Given the description of an element on the screen output the (x, y) to click on. 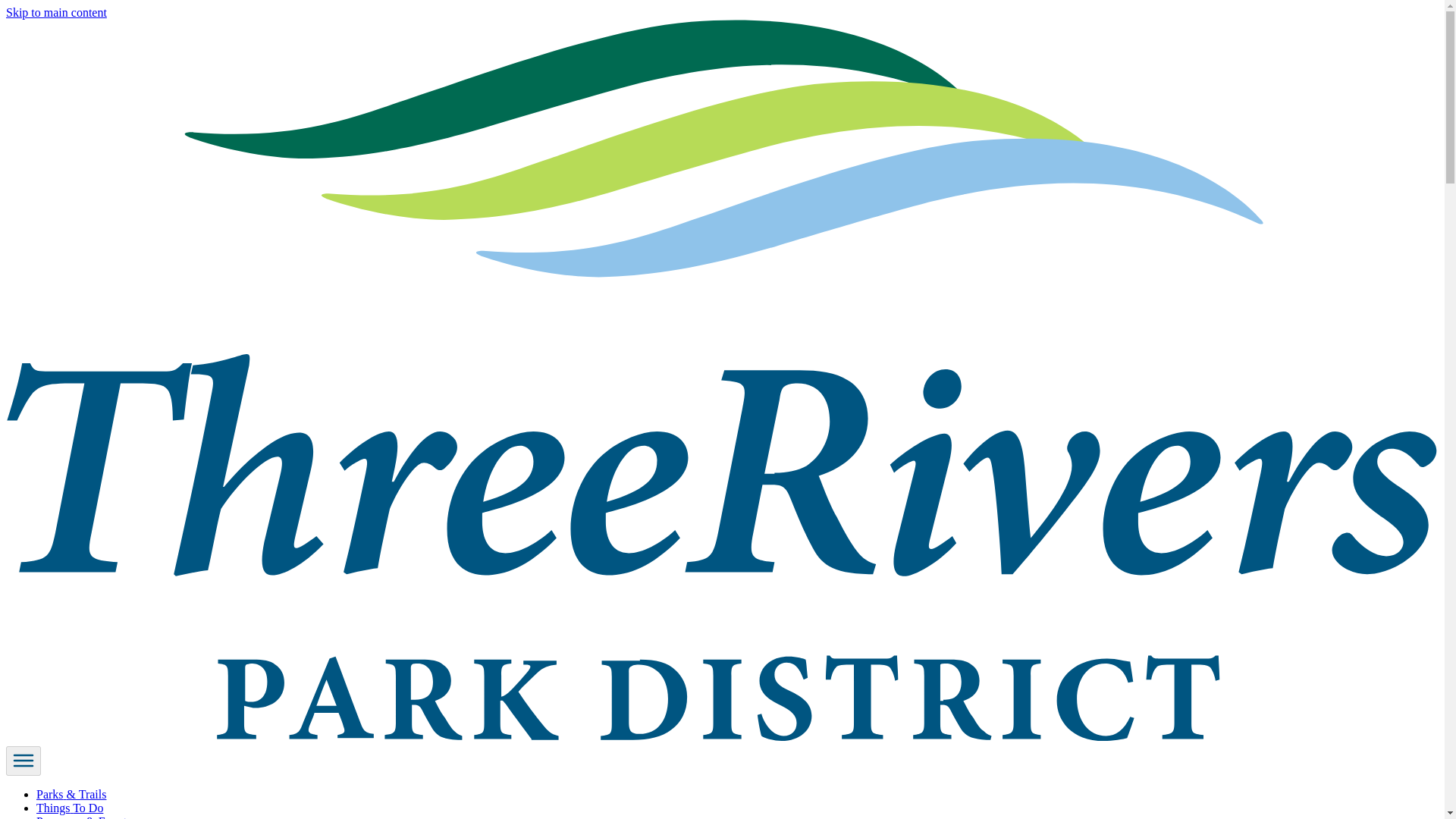
Toggle Navigation (22, 760)
Skip to main content (55, 11)
Toggle Navigation (22, 759)
Things To Do (69, 807)
